Given the description of an element on the screen output the (x, y) to click on. 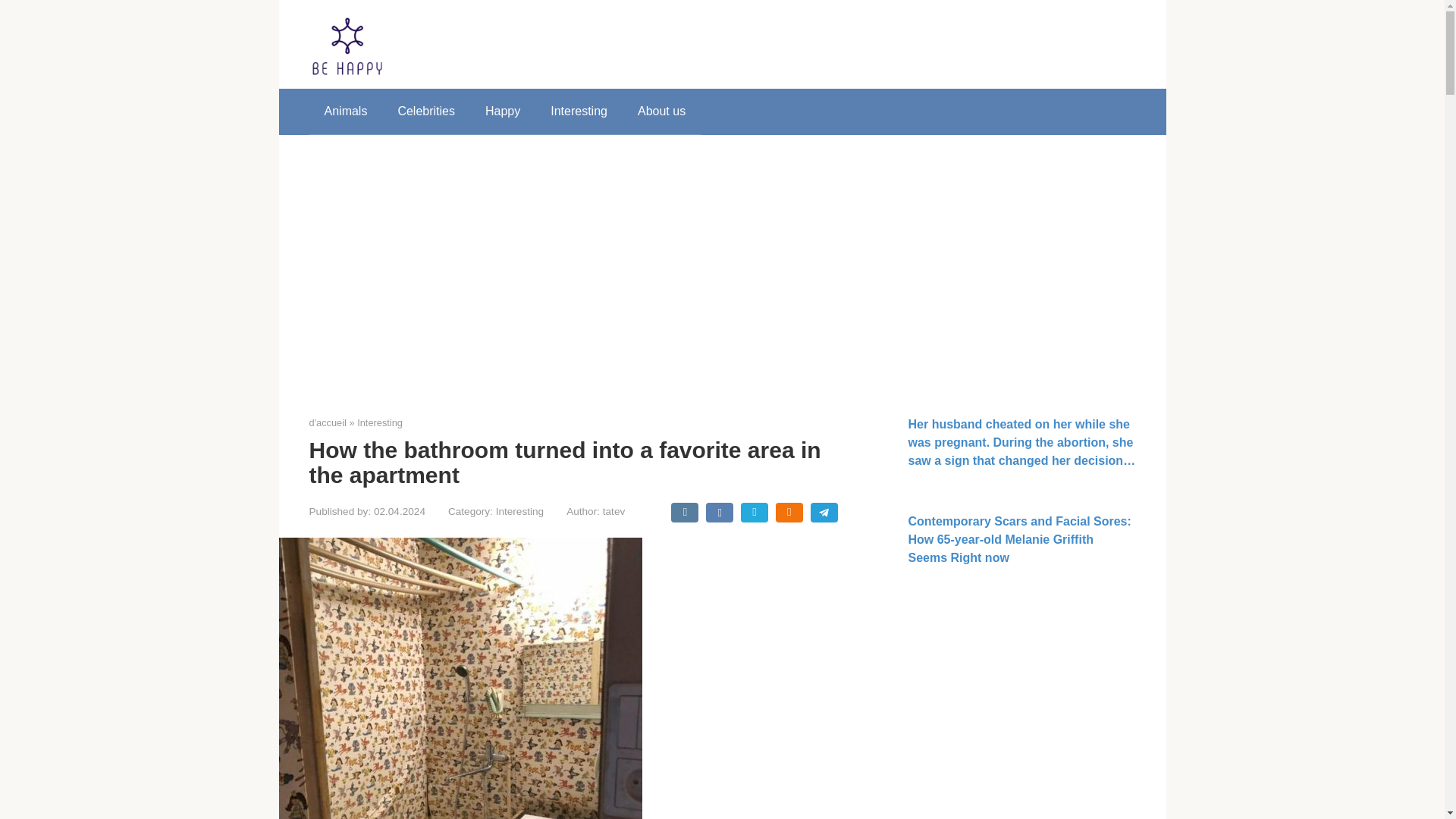
Animals (345, 111)
Interesting (379, 422)
About us (661, 111)
Celebrities (425, 111)
Interesting (519, 511)
d'accueil (327, 422)
Happy (502, 111)
Interesting (579, 111)
